Given the description of an element on the screen output the (x, y) to click on. 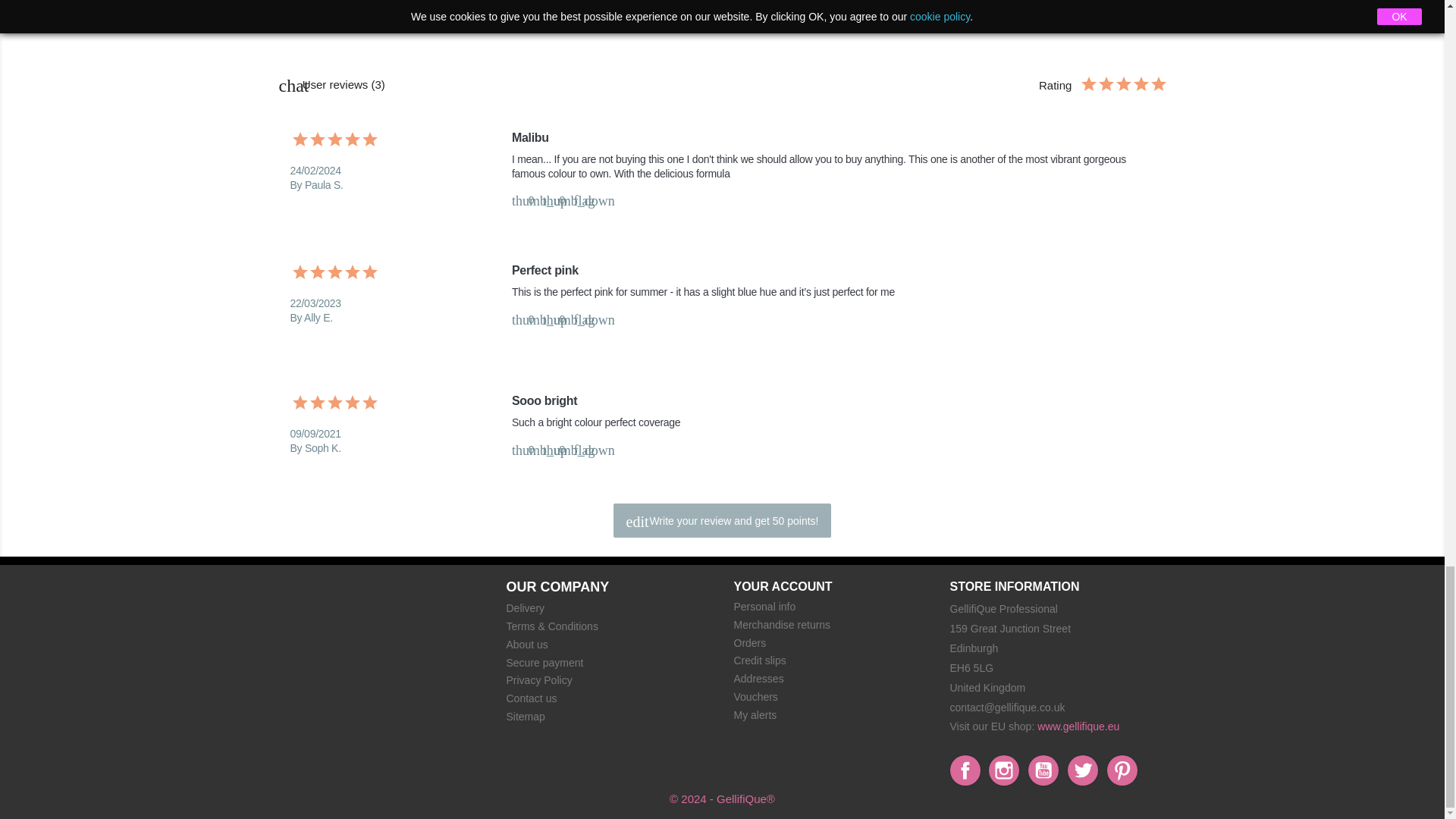
Report abuse (580, 449)
Report abuse (580, 200)
Report abuse (580, 318)
